Given the description of an element on the screen output the (x, y) to click on. 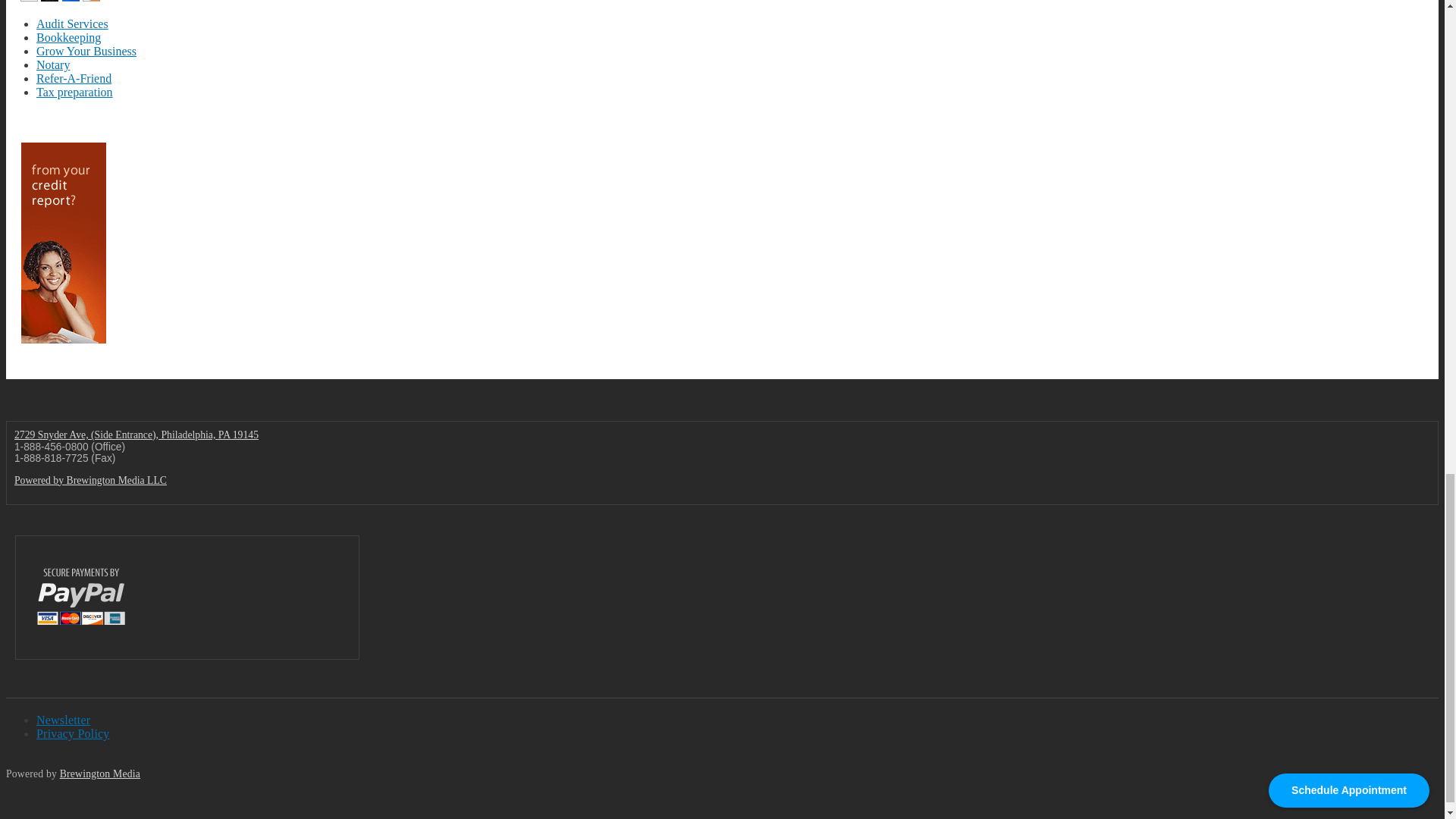
Refer-A-Friend (74, 78)
Tax preparation (74, 91)
Bookkeeping (68, 37)
Privacy Policy (73, 733)
Notary (52, 64)
Newsletter (63, 719)
Powered by Brewington Media LLC (90, 480)
Brewington Media (99, 773)
Audit Services (71, 23)
Grow Your Business (86, 51)
